Given the description of an element on the screen output the (x, y) to click on. 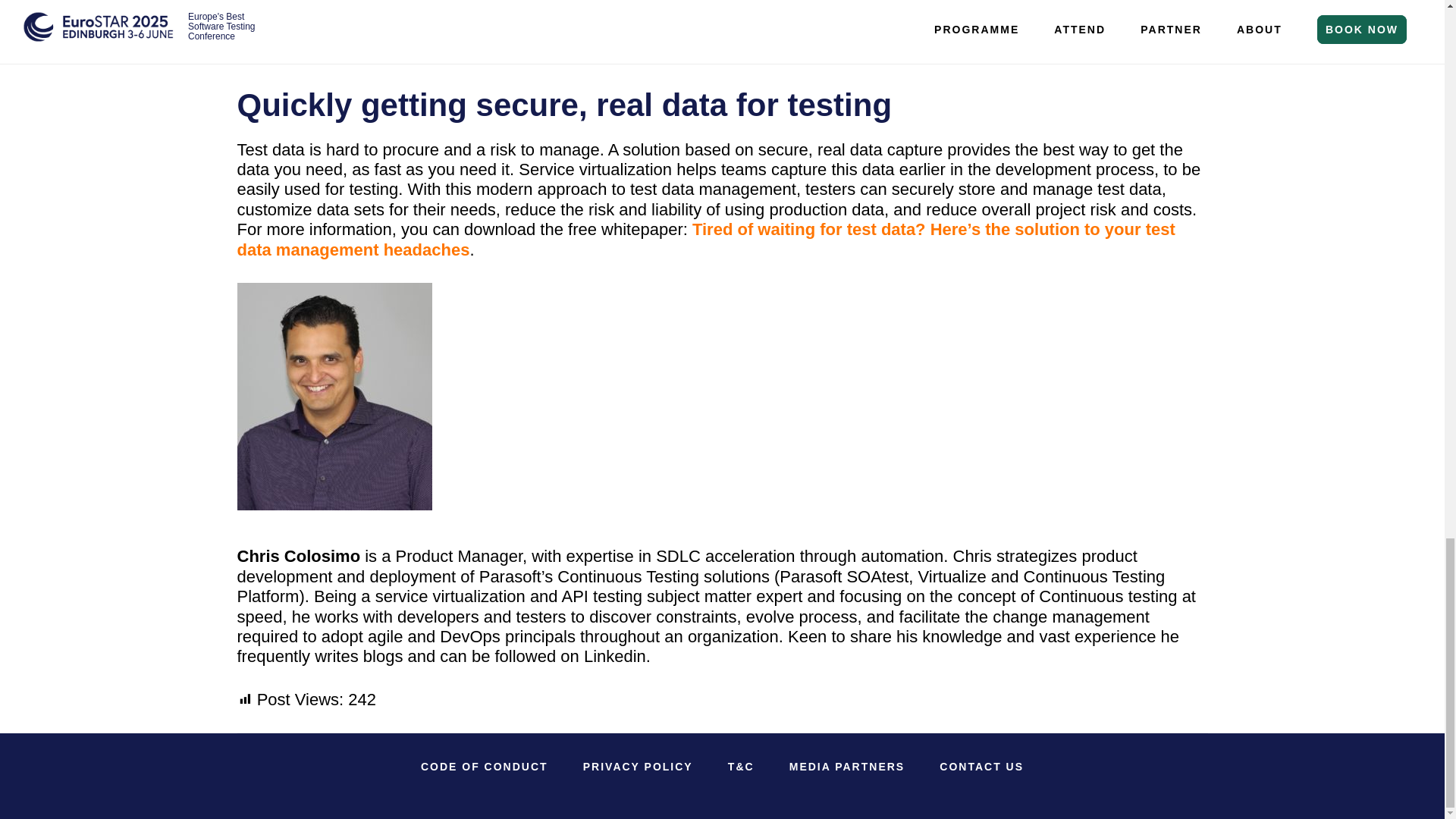
PRIVACY POLICY (637, 766)
CODE OF CONDUCT (484, 766)
MEDIA PARTNERS (847, 766)
CONTACT US (981, 766)
